Given the description of an element on the screen output the (x, y) to click on. 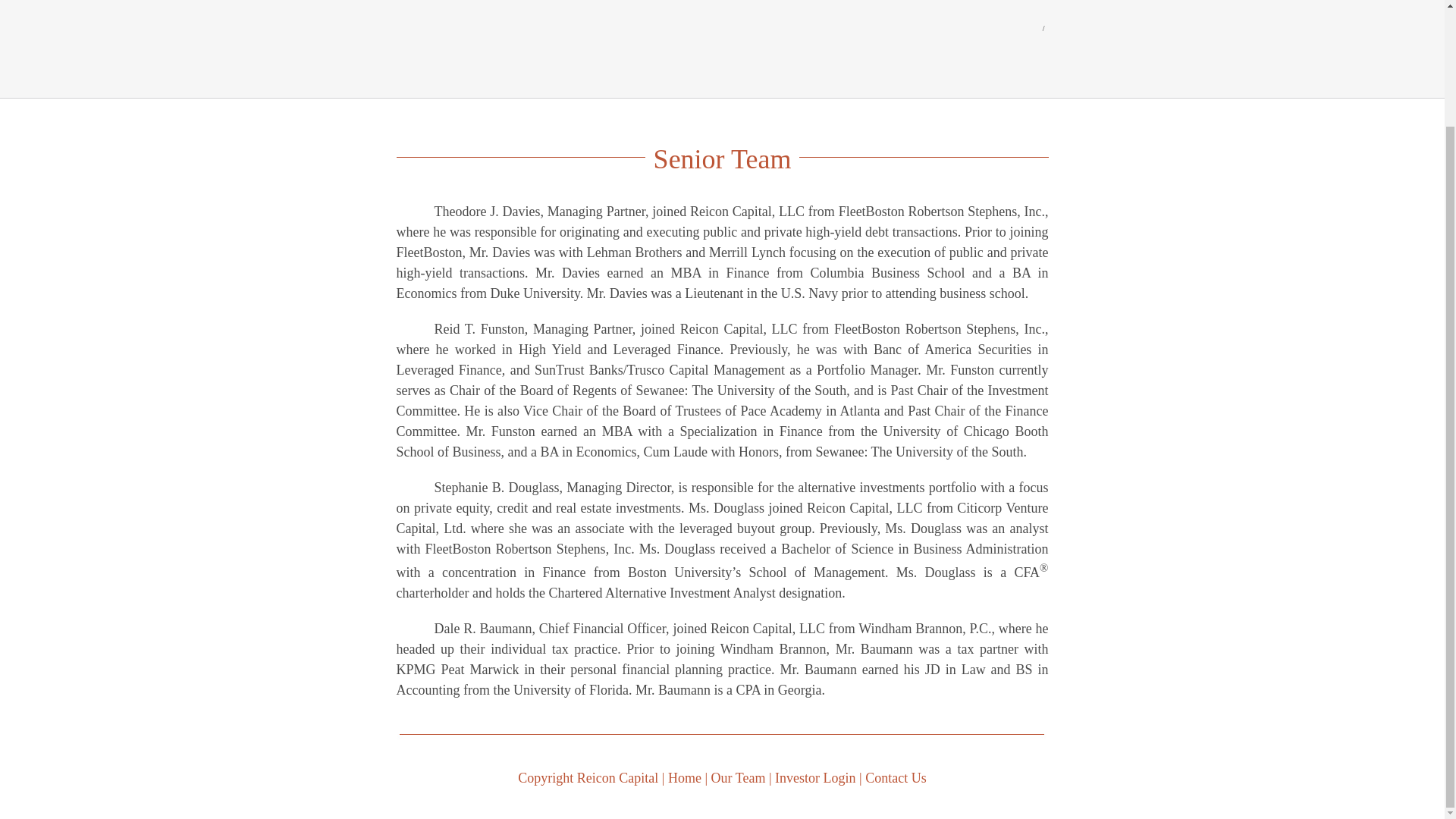
Our Team (738, 777)
Home (684, 777)
Investor Login (815, 777)
Contact Us (895, 777)
